Given the description of an element on the screen output the (x, y) to click on. 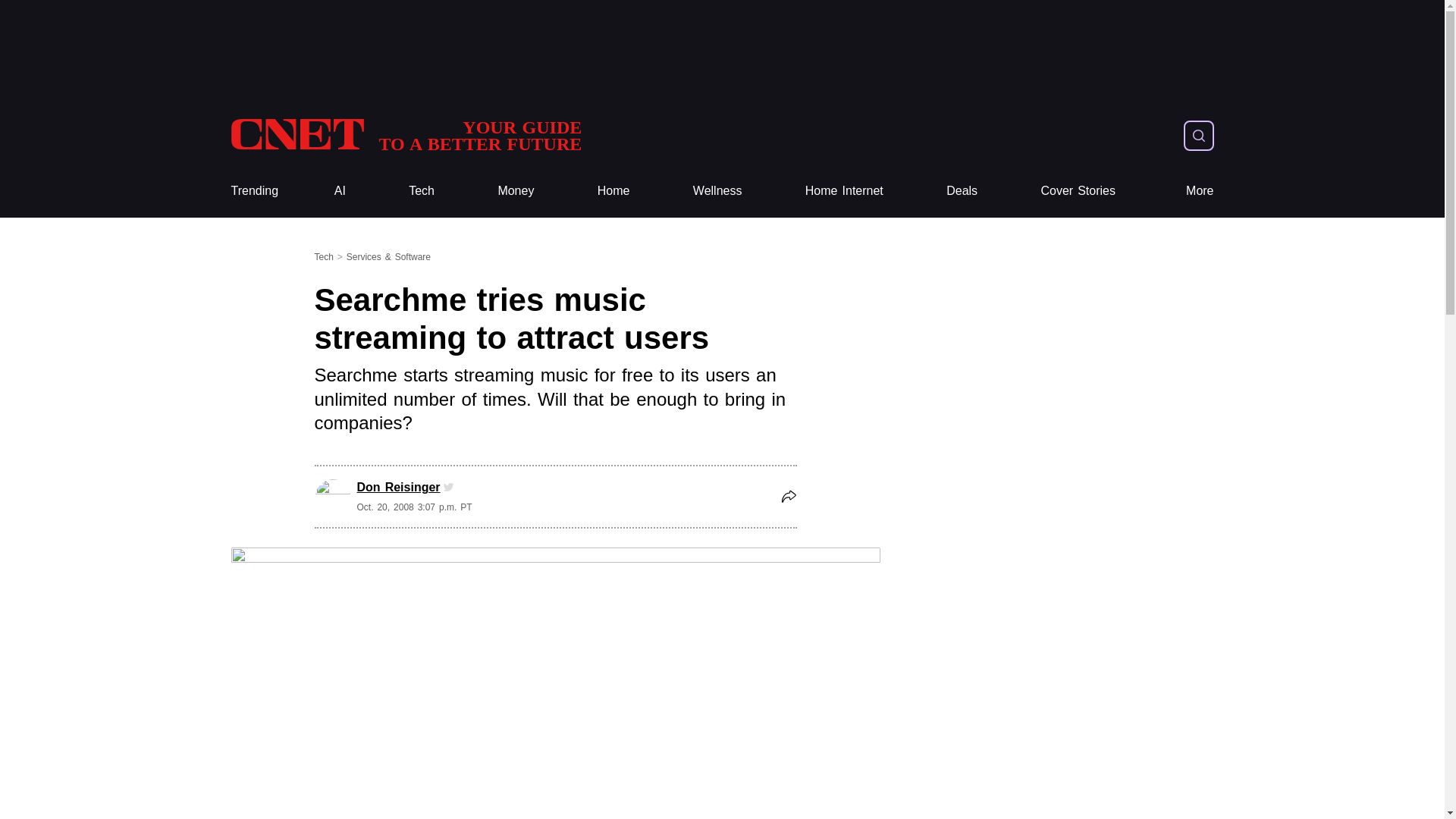
Trending (254, 190)
Wellness (717, 190)
Tech (421, 190)
Home Internet (844, 190)
Tech (405, 135)
Trending (421, 190)
Deals (254, 190)
Money (961, 190)
CNET (515, 190)
